Given the description of an element on the screen output the (x, y) to click on. 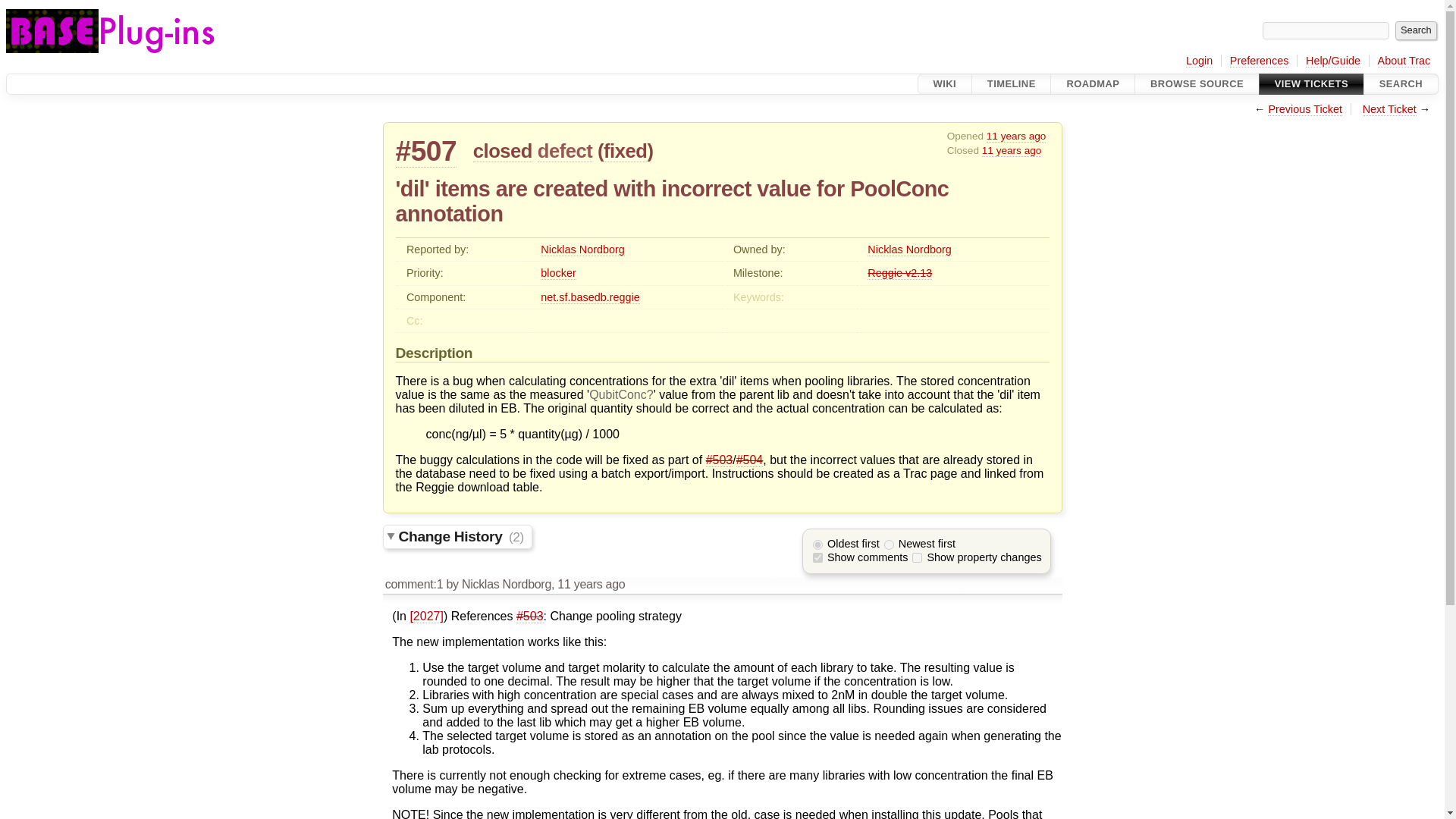
ROADMAP (1092, 84)
See timeline at Sep 27, 2013, 9:22:35 AM (1016, 136)
fixed (625, 151)
defect (564, 151)
comment:1 (414, 584)
BROWSE SOURCE (1197, 84)
11 years ago (590, 584)
blocker (557, 273)
closed (502, 151)
Preferences (1259, 60)
WIKI (945, 84)
newest (888, 544)
Previous Ticket (1305, 109)
on (817, 557)
QubitConc (621, 394)
